Given the description of an element on the screen output the (x, y) to click on. 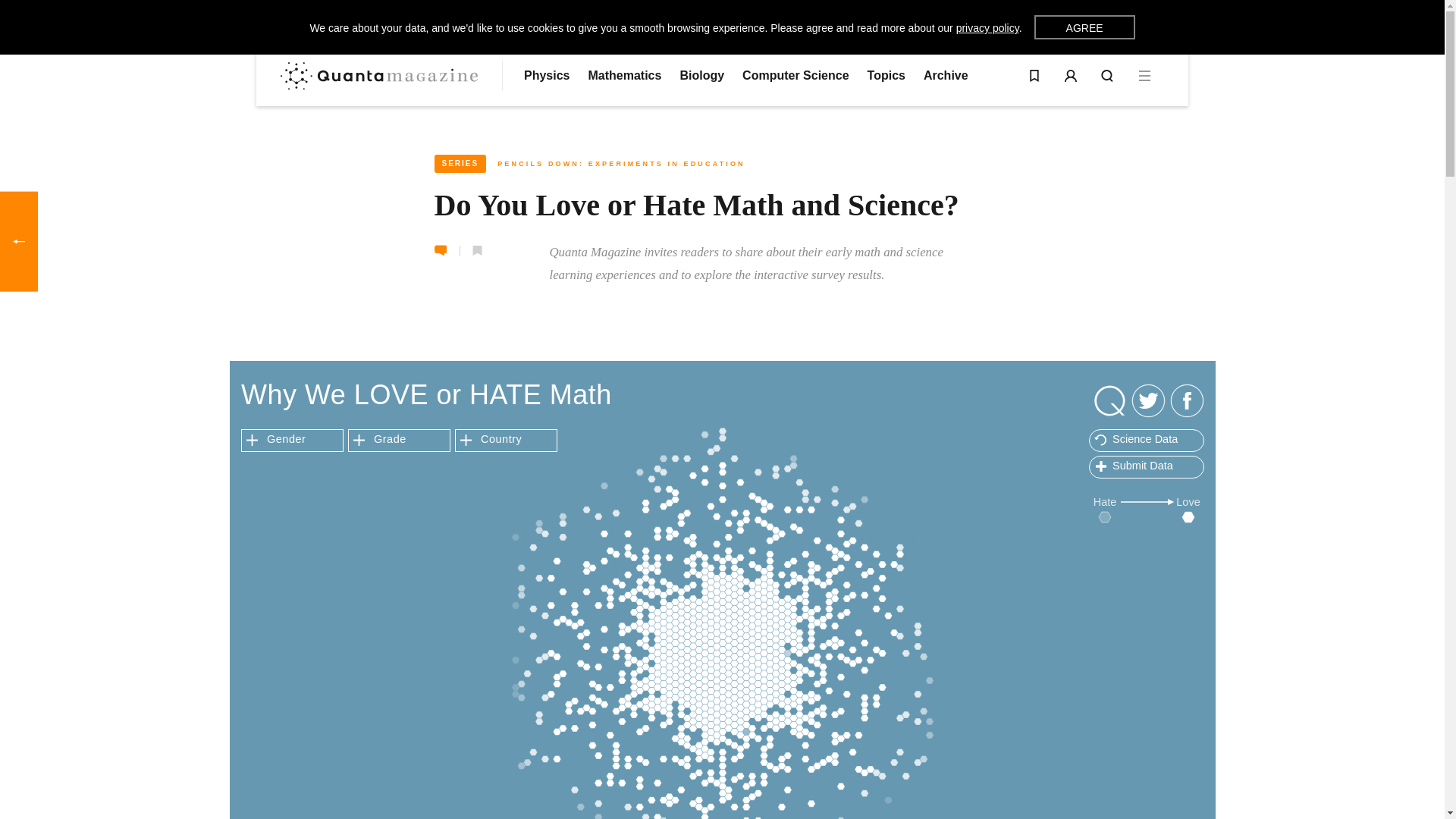
privacy policy (987, 28)
Search (1106, 75)
Computer Science (795, 75)
Search (1106, 75)
Saved articles (1034, 75)
Login (1070, 75)
AGREE (1084, 27)
Saved articles (1034, 75)
Login (1070, 75)
PENCILS DOWN: EXPERIMENTS IN EDUCATION (621, 163)
